Given the description of an element on the screen output the (x, y) to click on. 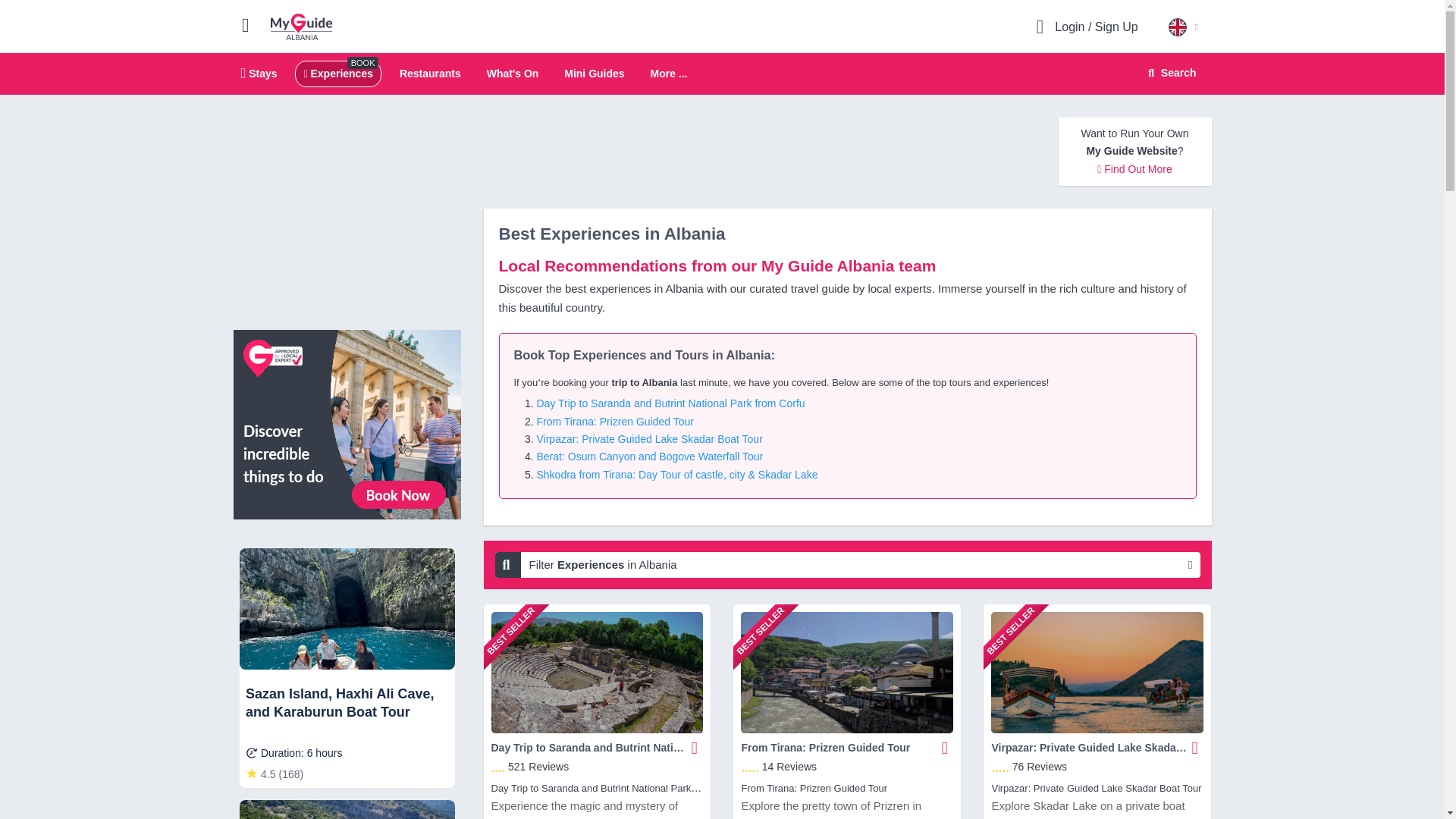
GetYourGuide Widget (346, 680)
Mini Guides (594, 73)
More ... (668, 73)
What's On (512, 73)
Add to My Guide (694, 747)
My Guide Albania (300, 25)
Add to My Guide (944, 747)
Toggle Menu (251, 24)
Search (1169, 72)
Experiences (337, 73)
Add to My Guide (1195, 747)
Restaurants (429, 73)
Stays (259, 73)
